Given the description of an element on the screen output the (x, y) to click on. 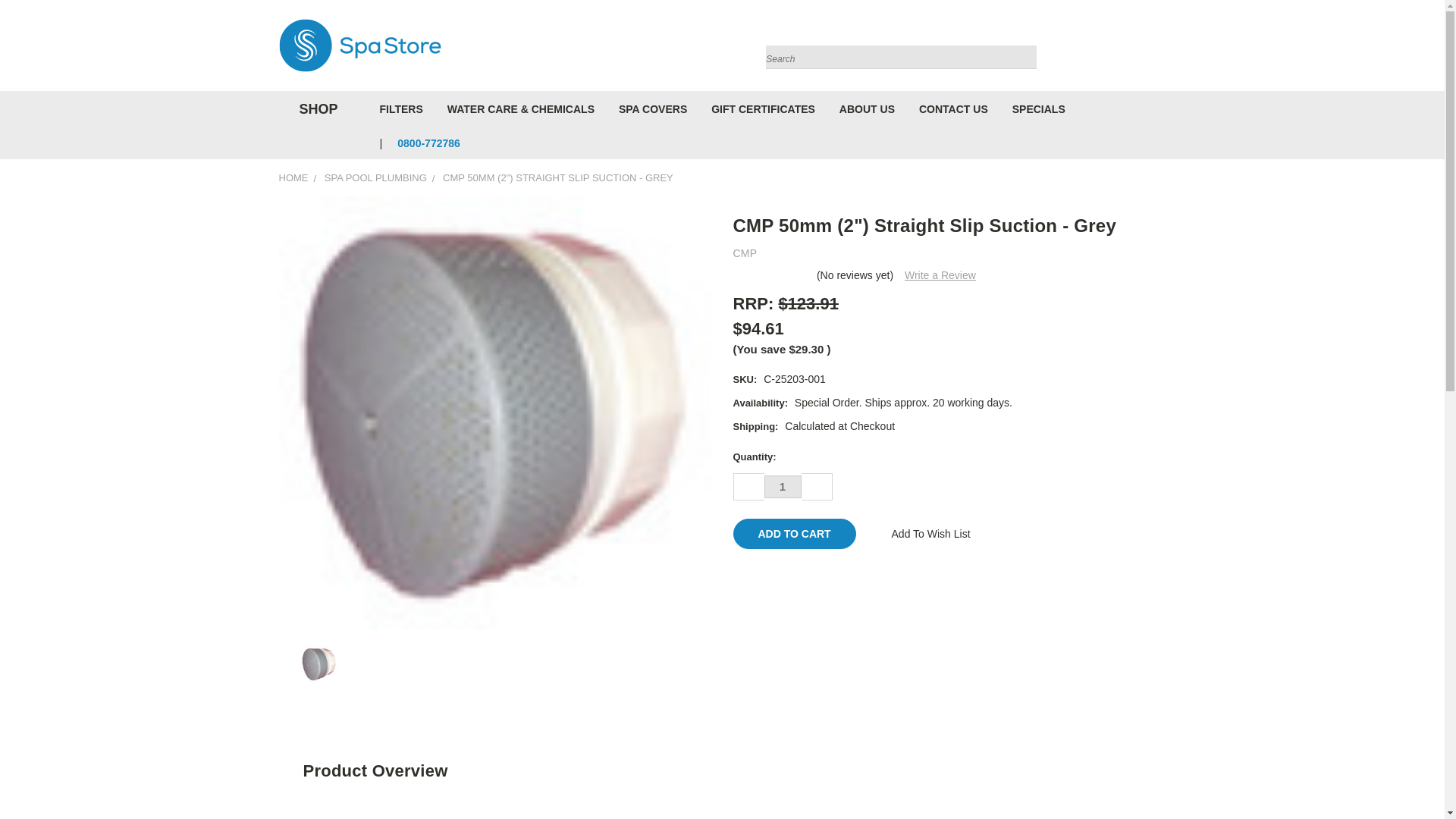
Add to Cart (794, 533)
Spa Store New Zealand Ltd (360, 45)
1 (783, 486)
SHOP (314, 109)
User Toolbox (1105, 48)
Gift Certificates (1135, 48)
